Given the description of an element on the screen output the (x, y) to click on. 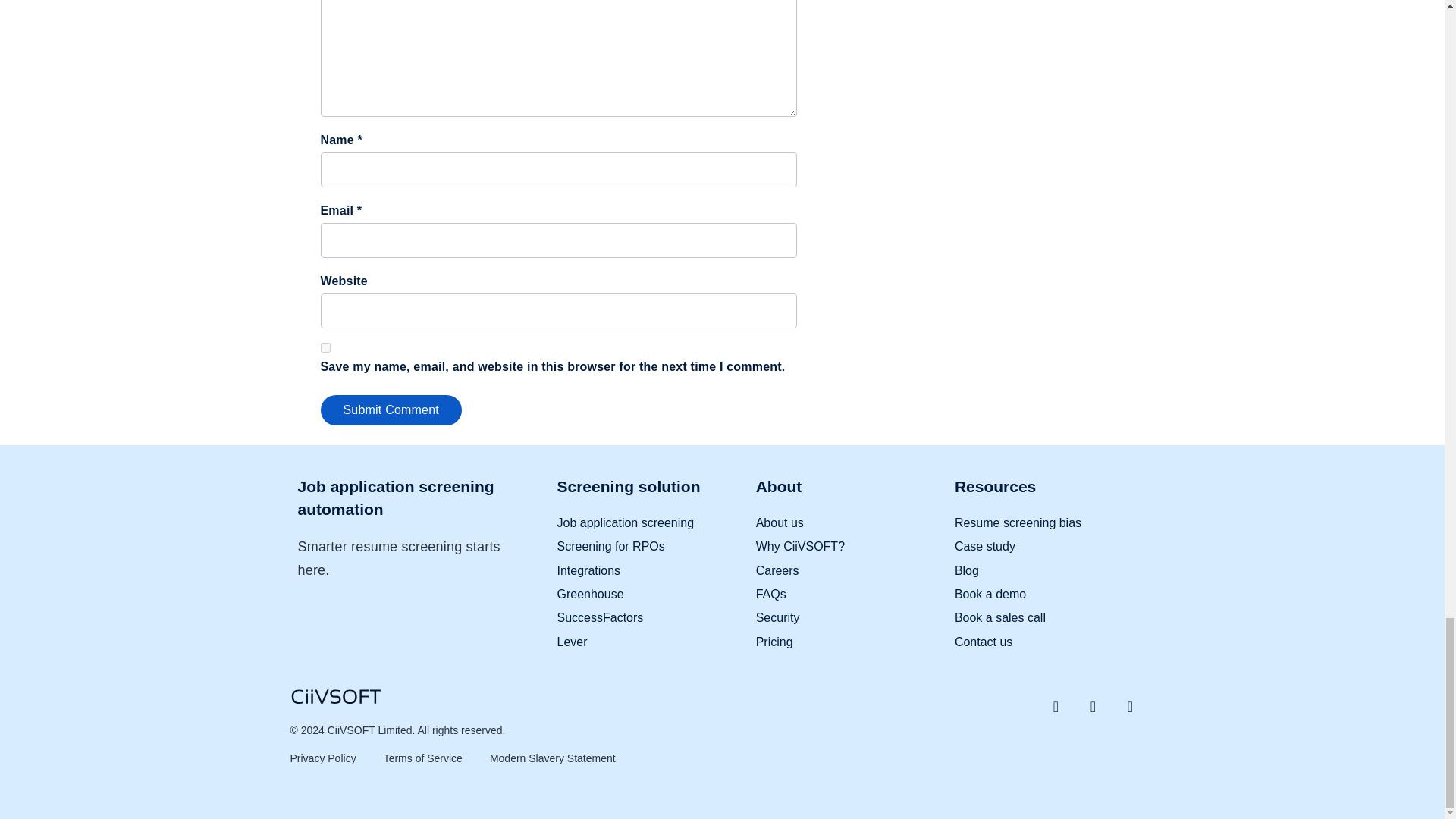
Submit Comment (390, 409)
Submit Comment (390, 409)
yes (325, 347)
